Given the description of an element on the screen output the (x, y) to click on. 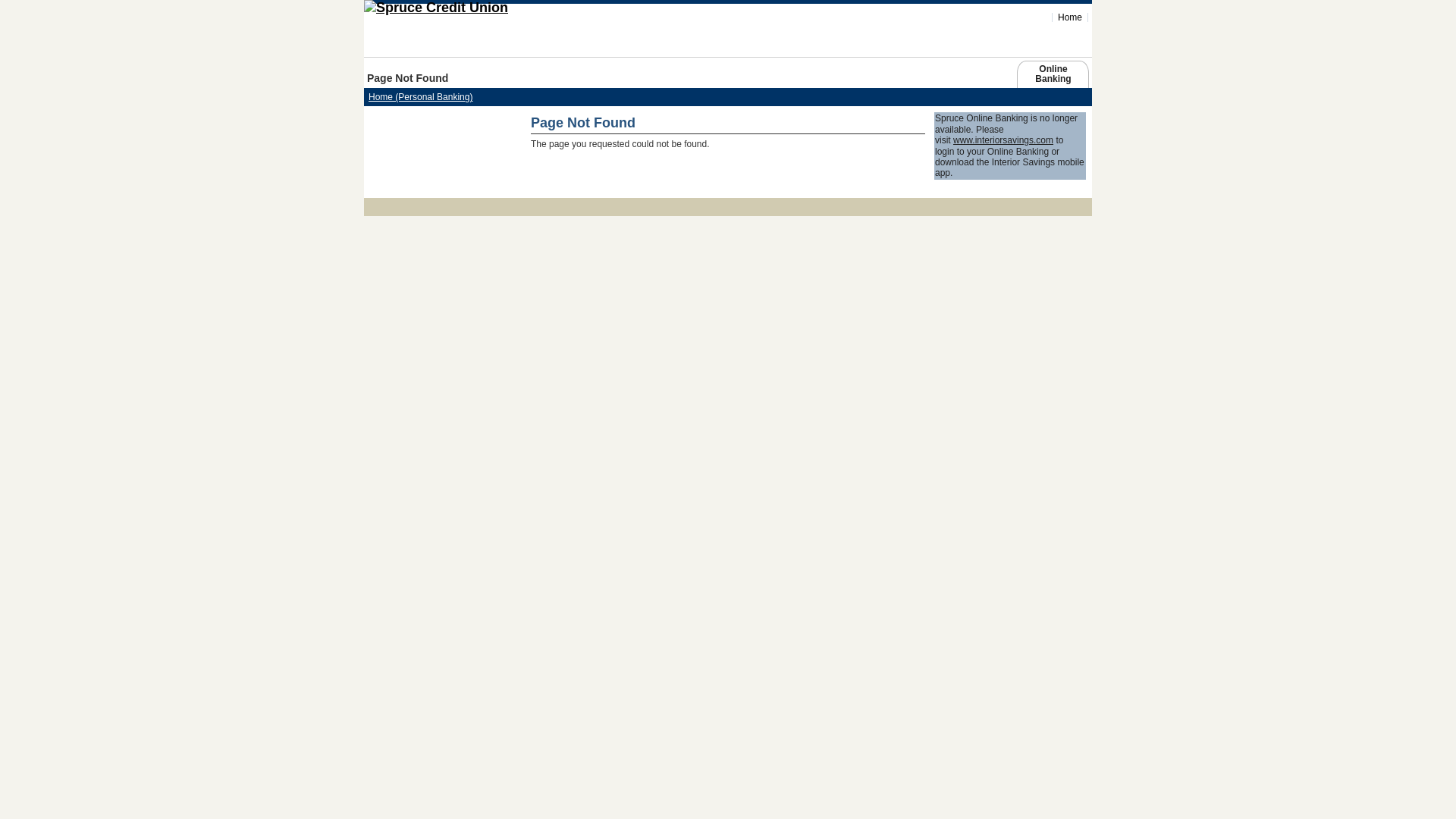
www.interiorsavings.com Element type: text (1003, 139)
Home Element type: hover (477, 8)
Home Element type: text (1069, 17)
Online Banking Element type: text (1052, 76)
Home (Personal Banking) Element type: text (420, 96)
